Given the description of an element on the screen output the (x, y) to click on. 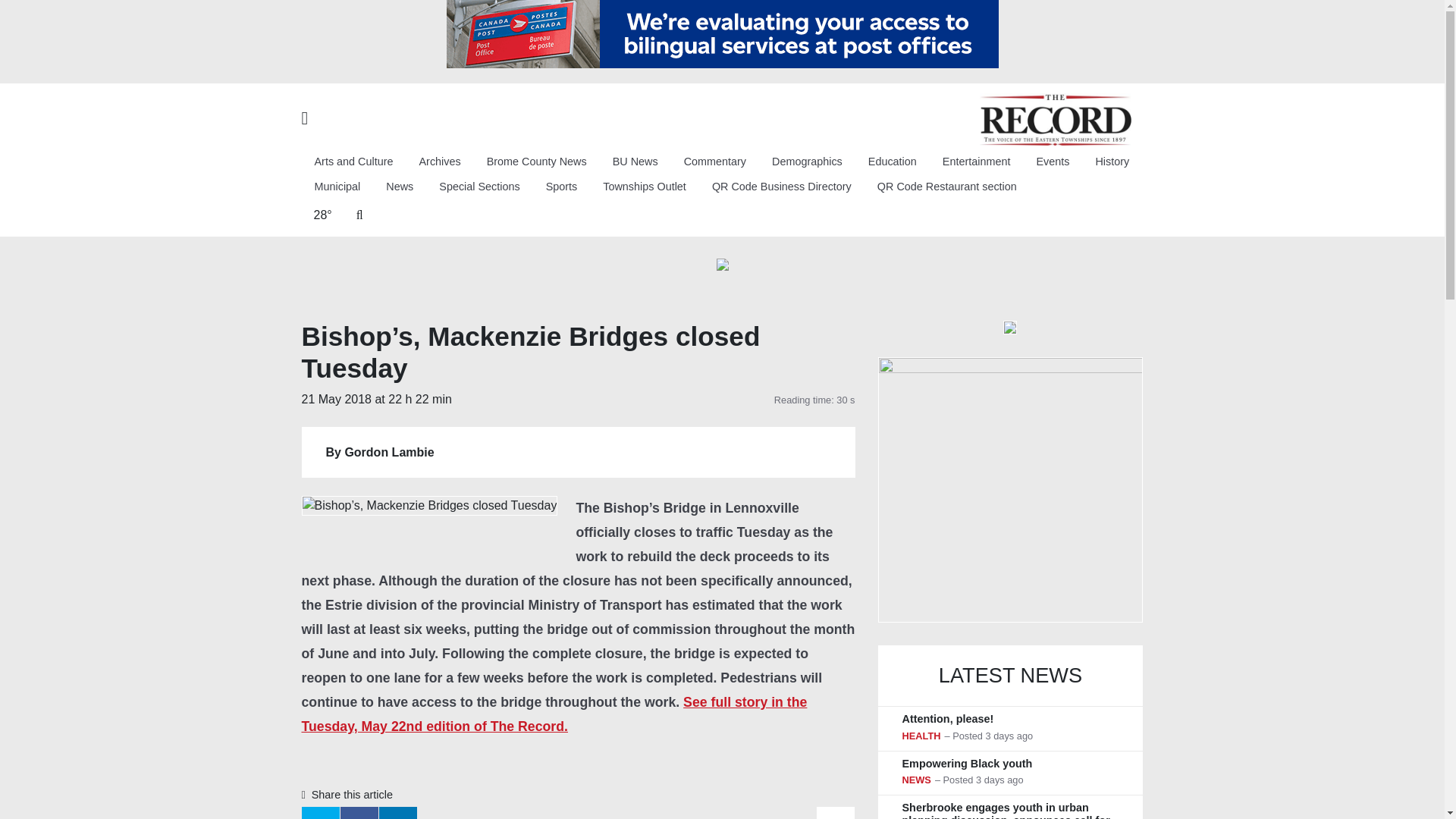
Events (1052, 161)
Archives (439, 161)
Brome County News (536, 161)
QR Code Restaurant section (946, 187)
QR Code Restaurant section (946, 187)
Brome County News (536, 161)
Municipal (337, 187)
News (399, 187)
Arts and Culture (353, 161)
QR Code Business Directory (781, 187)
Townships Outlet (643, 187)
Arts and Culture (353, 161)
Municipal (337, 187)
Townships Outlet (643, 187)
Events (1052, 161)
